Given the description of an element on the screen output the (x, y) to click on. 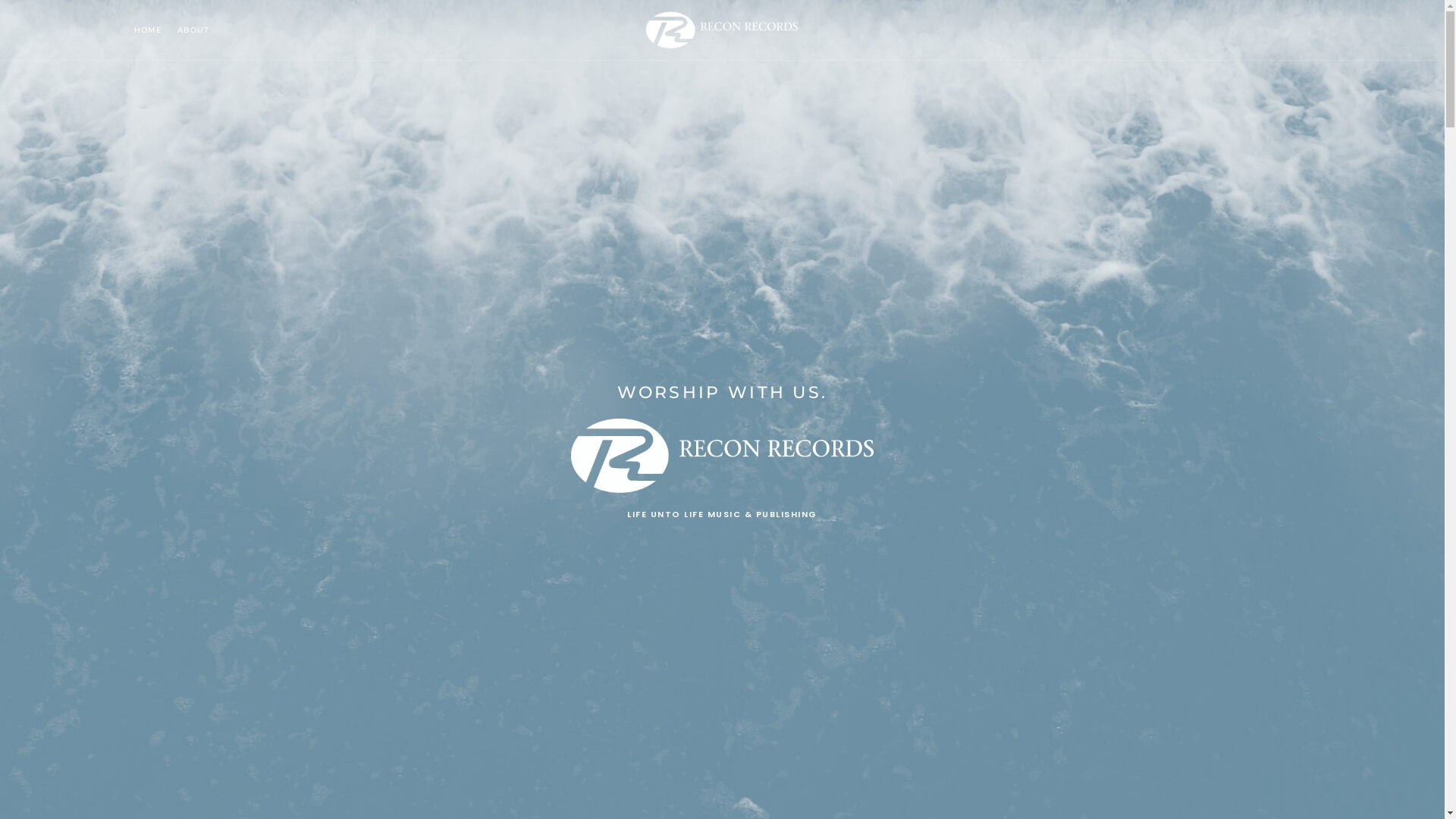
ABOUT Element type: text (193, 29)
HOME Element type: text (148, 29)
